Given the description of an element on the screen output the (x, y) to click on. 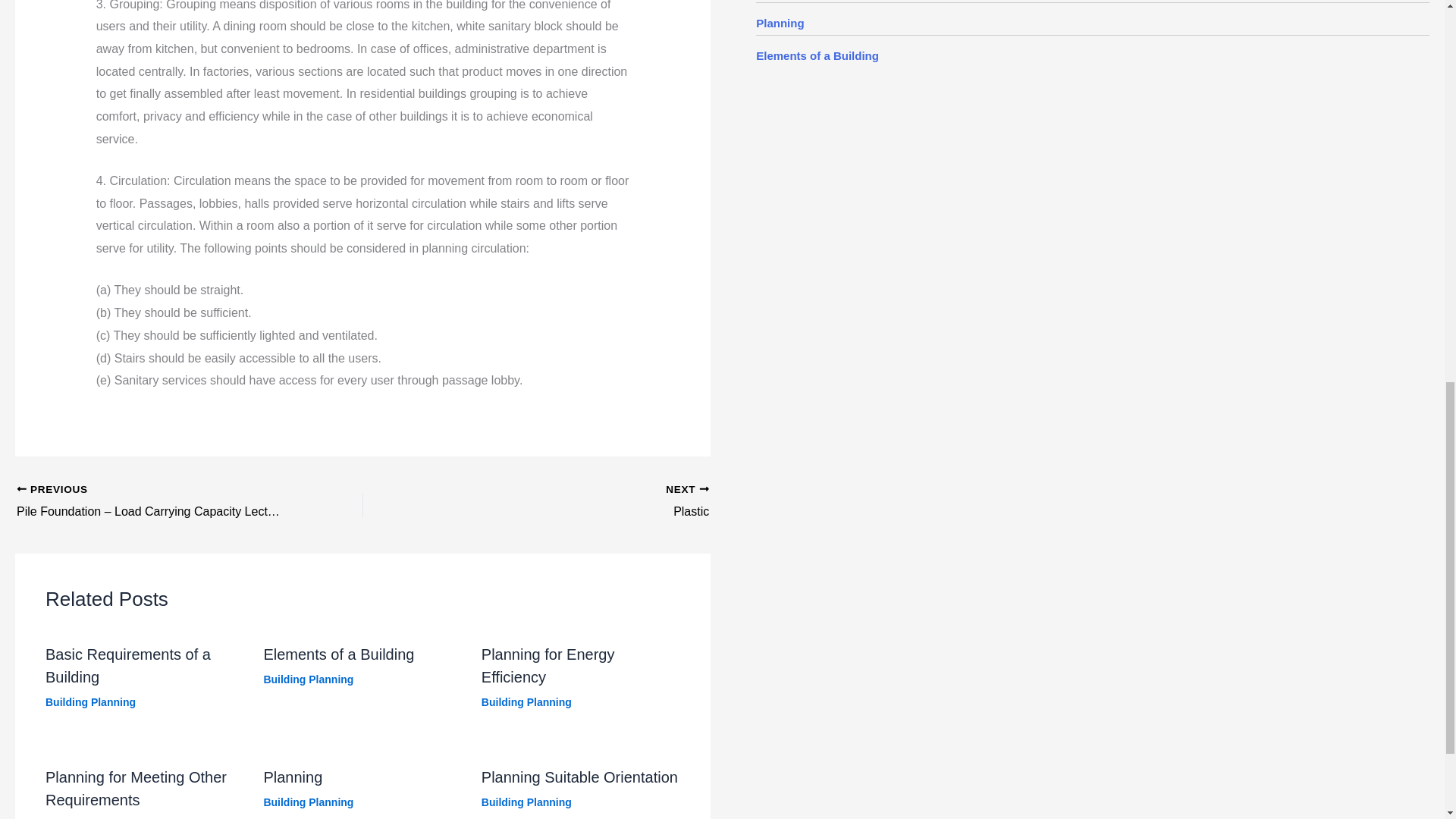
Planning (779, 22)
Elements of a Building (817, 55)
Pile Foundation - Load Carrying Capacity Lecture Videos (155, 501)
Plastic (569, 501)
